Given the description of an element on the screen output the (x, y) to click on. 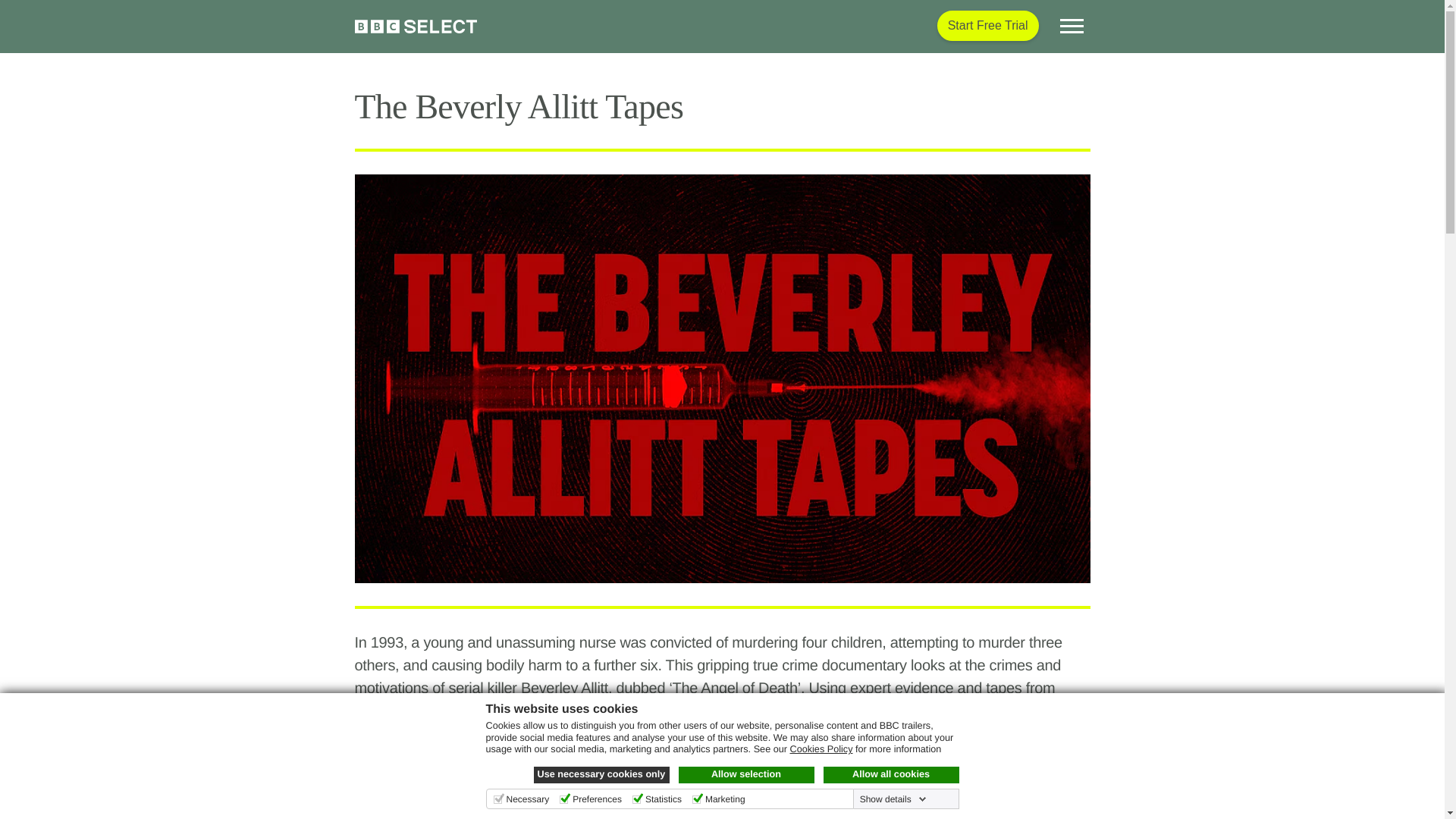
Allow all cookies (891, 774)
Show details (893, 799)
Cookies Policy (821, 748)
Use necessary cookies only (601, 774)
Allow selection (745, 774)
